Given the description of an element on the screen output the (x, y) to click on. 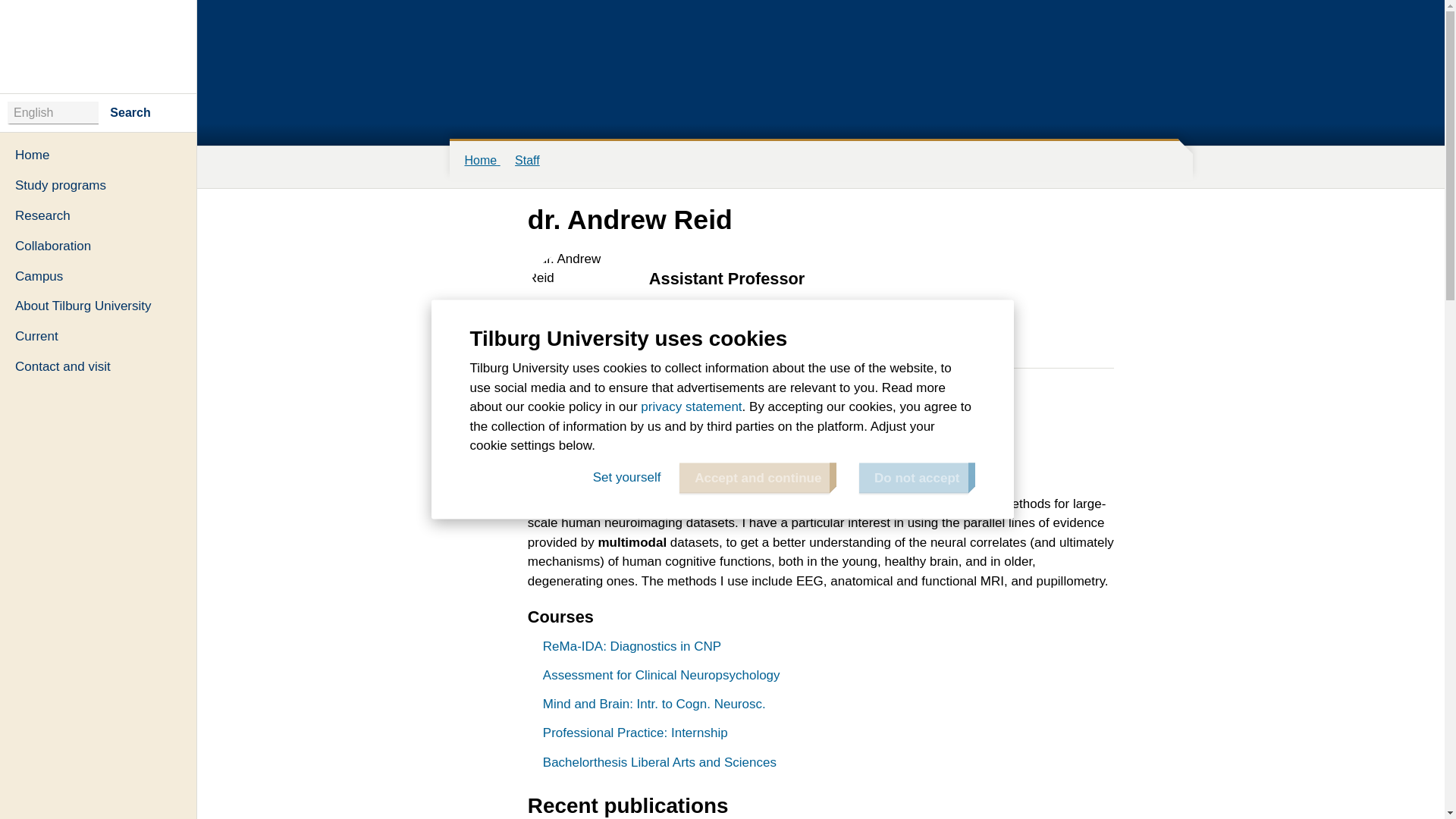
Current (98, 336)
Contact and visit (98, 367)
Research (98, 215)
Bachelorthesis Liberal Arts and Sciences (661, 762)
Staff (527, 160)
Home (98, 46)
Home (98, 155)
Study programs (98, 185)
Assessment for Clinical Neuropsychology (663, 675)
ReMa-IDA: Diagnostics in CNP (634, 646)
